Given the description of an element on the screen output the (x, y) to click on. 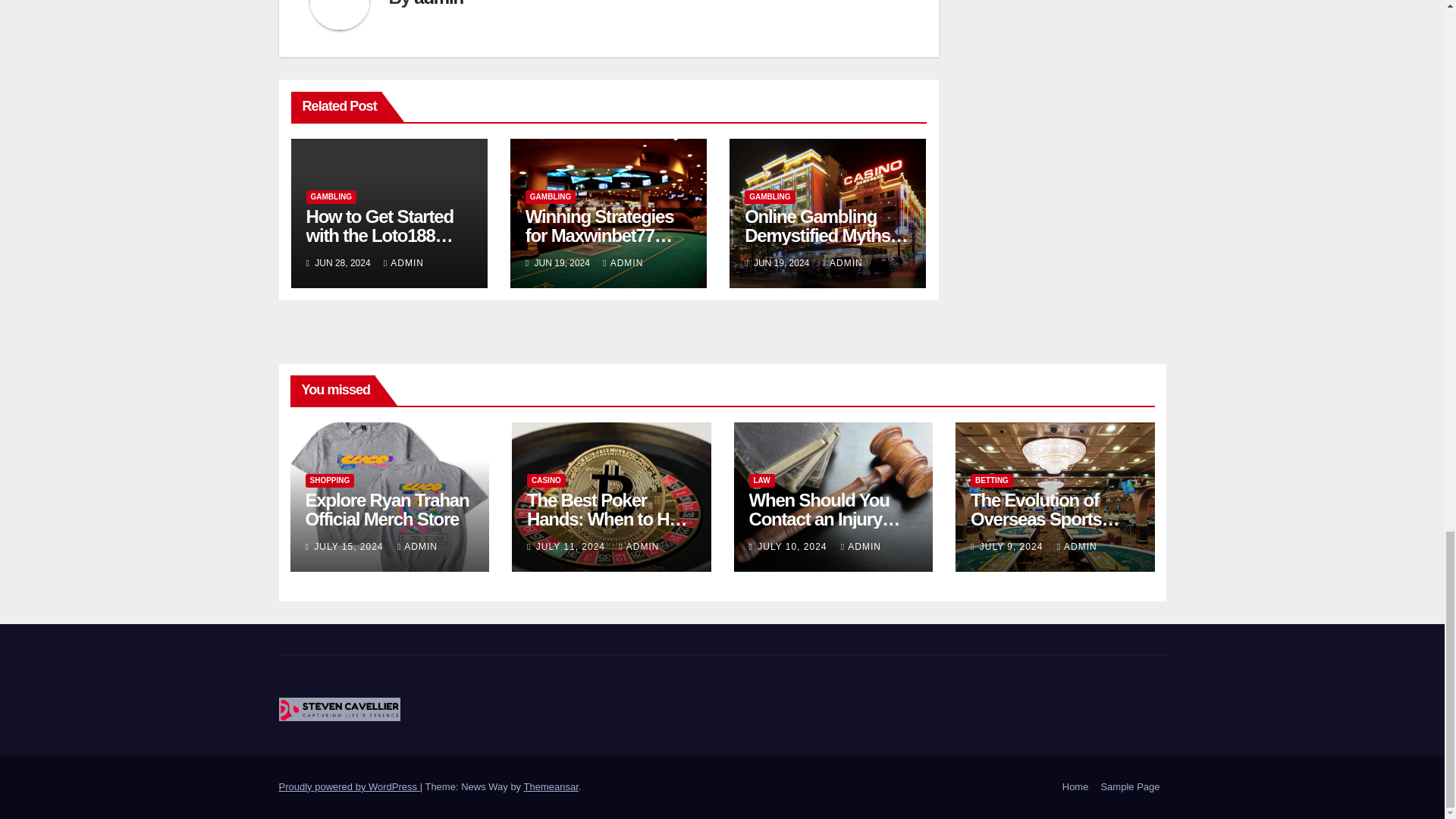
admin (438, 3)
ADMIN (403, 262)
Home (1075, 786)
Permalink to: When Should You Contact an Injury Attorney? (825, 518)
GAMBLING (550, 196)
Permalink to: Online Gambling Demystified Myths vs. Facts (826, 235)
GAMBLING (330, 196)
GAMBLING (769, 196)
Permalink to: Explore Ryan Trahan Official Merch Store (386, 509)
Winning Strategies for Maxwinbet77 Online Sports Game (604, 235)
How to Get Started with the Loto188 Latest Version (378, 235)
